Given the description of an element on the screen output the (x, y) to click on. 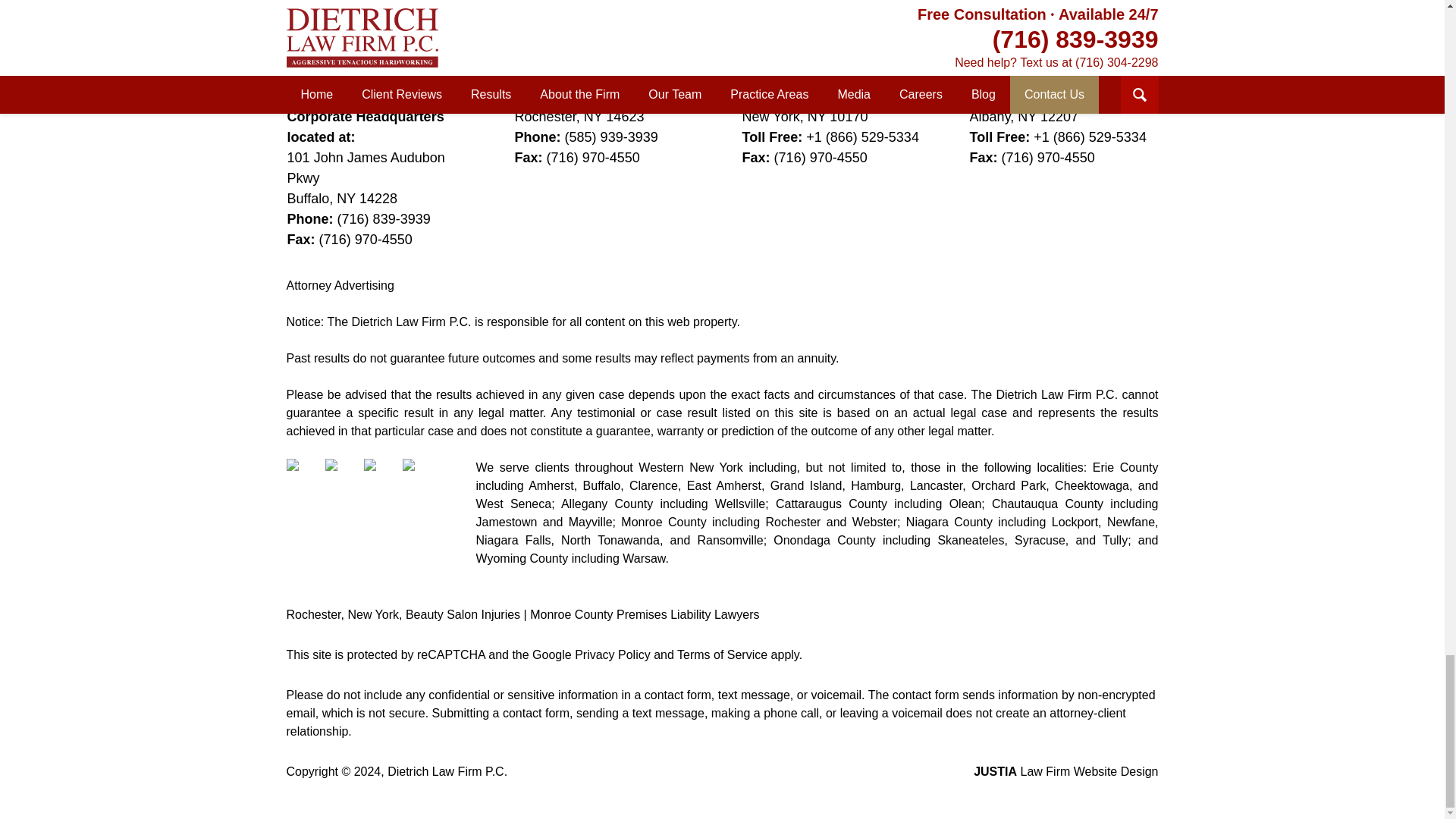
Facebook (303, 475)
LinkedIn (381, 475)
Justia (420, 475)
Twitter (341, 475)
